Given the description of an element on the screen output the (x, y) to click on. 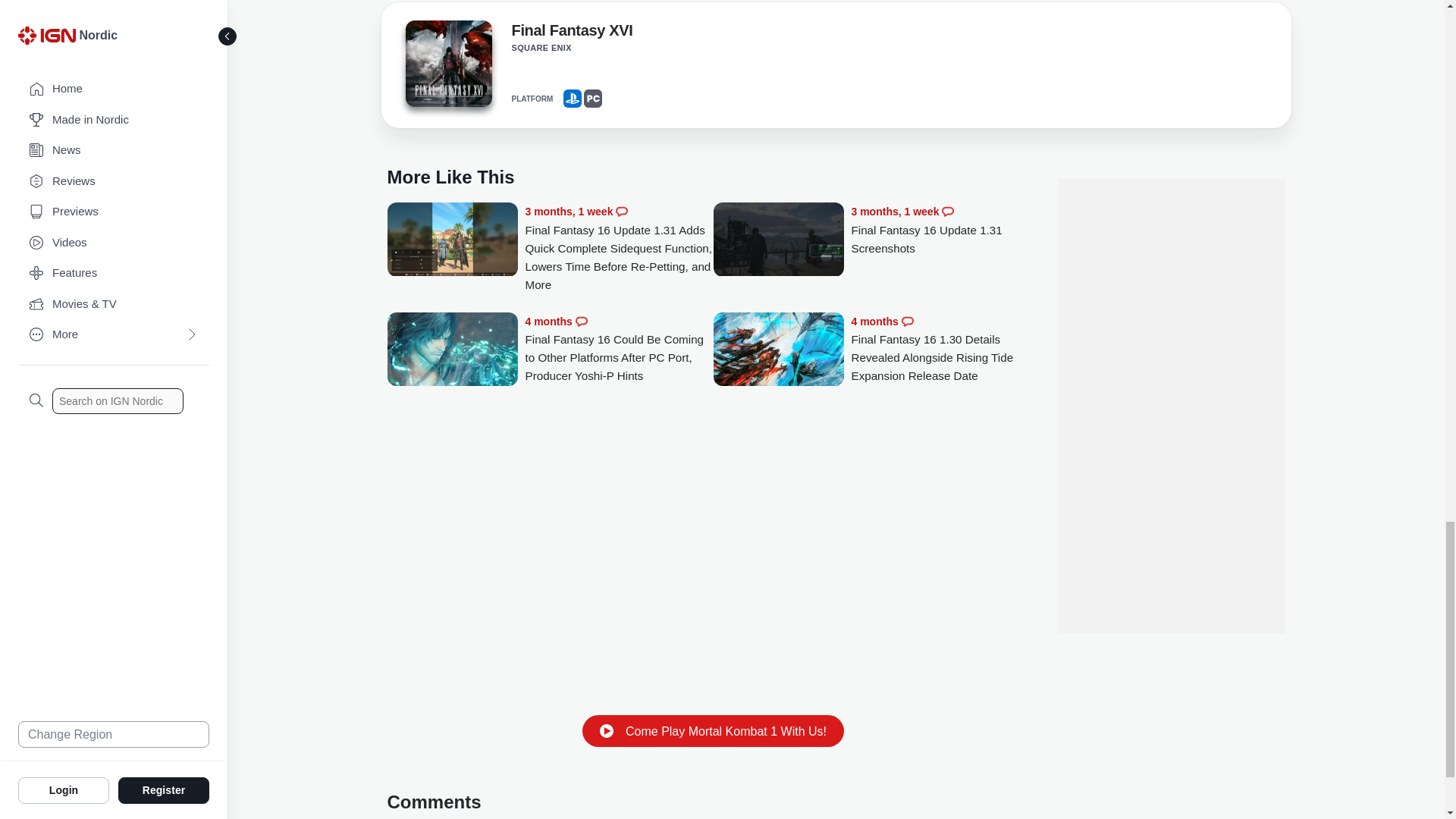
PC (592, 98)
Comments (621, 211)
Final Fantasy XVI (448, 63)
Final Fantasy 16 Update 1.31 Screenshots (944, 229)
Comments (581, 321)
Final Fantasy 16 Update 1.31 Screenshots (778, 240)
Final Fantasy XVI (571, 33)
Final Fantasy XVI (448, 68)
PS5 (571, 98)
Comments (947, 211)
